Given the description of an element on the screen output the (x, y) to click on. 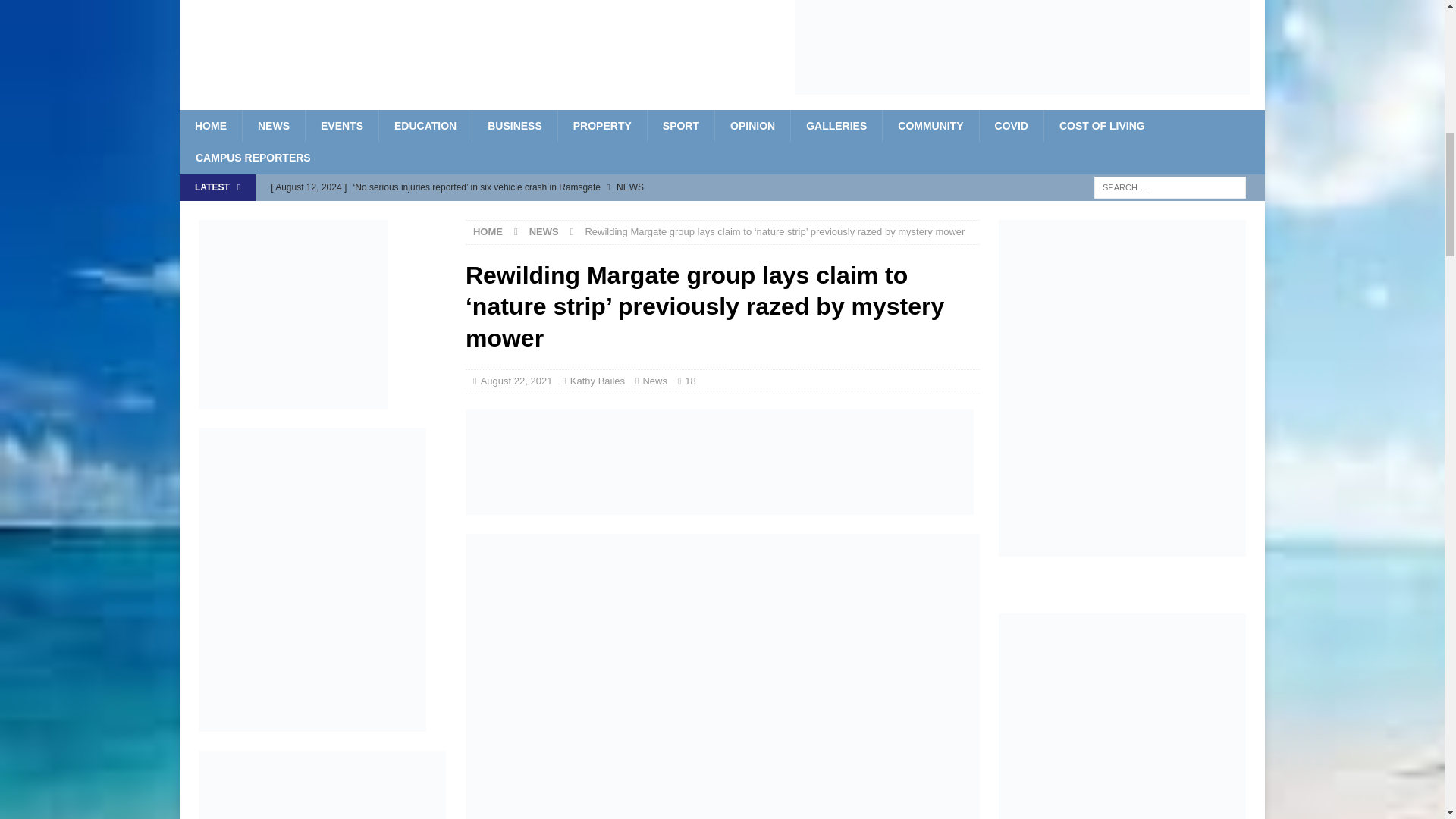
HOME (210, 125)
18 (689, 380)
SPORT (680, 125)
COVID (1010, 125)
OPINION (752, 125)
BUSINESS (514, 125)
CAMPUS REPORTERS (252, 157)
GALLERIES (836, 125)
EVENTS (341, 125)
COMMUNITY (930, 125)
